Given the description of an element on the screen output the (x, y) to click on. 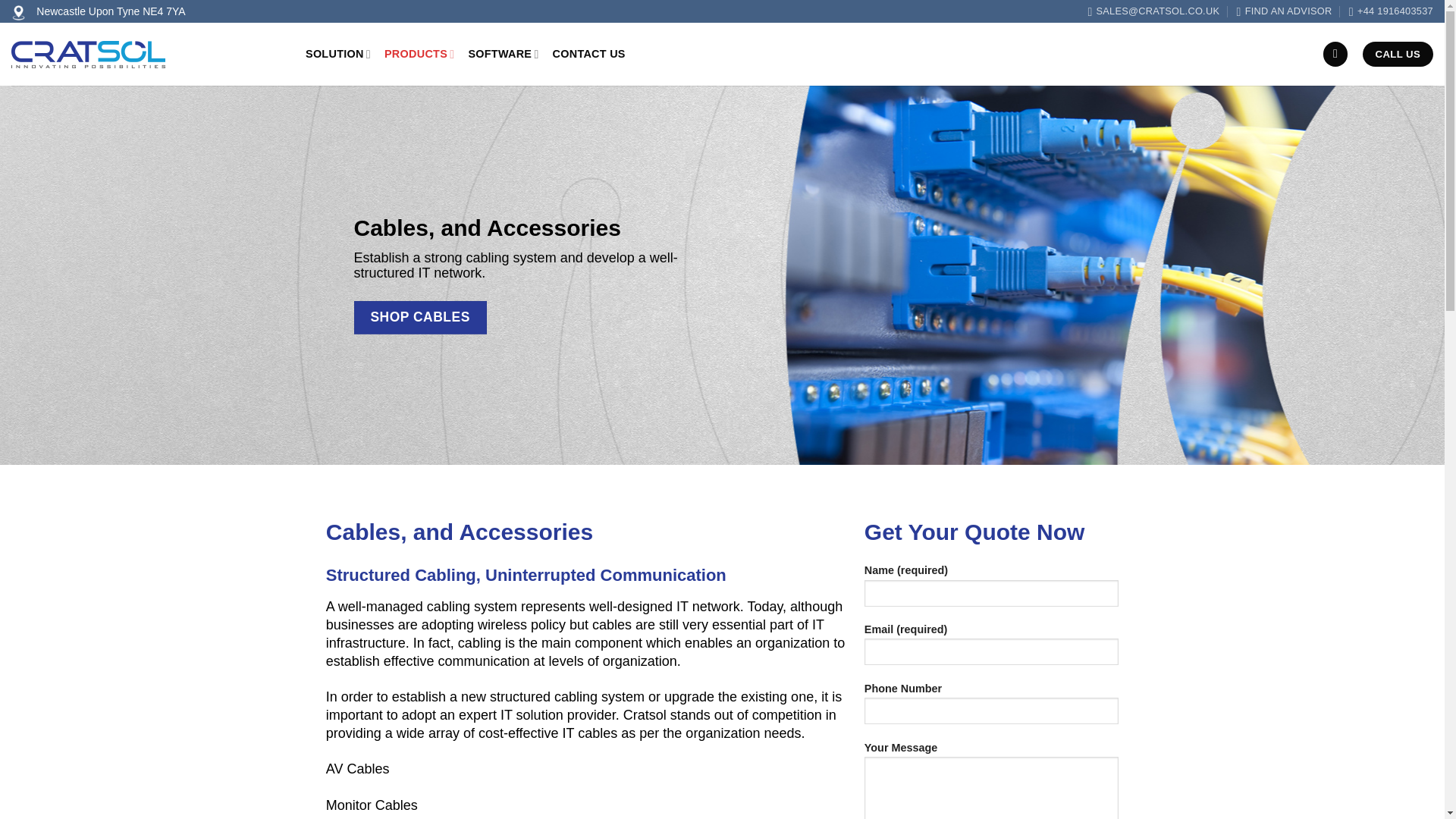
SOLUTION (338, 53)
PRODUCTS (419, 53)
SOFTWARE (502, 53)
Cratsol Technology LLC - Innovating Possibilities (146, 53)
FIND AN ADVISOR (1284, 11)
